Given the description of an element on the screen output the (x, y) to click on. 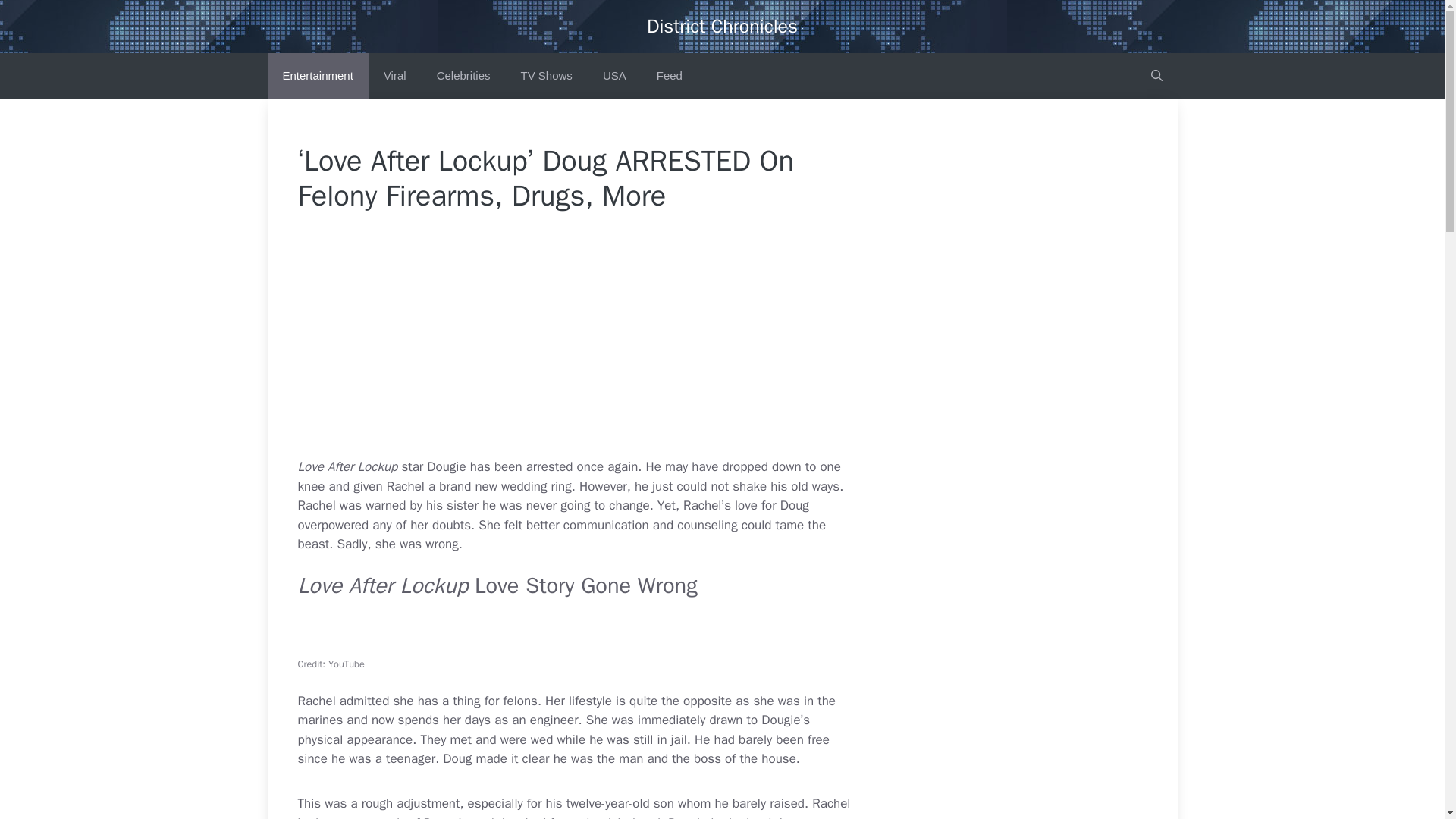
TV Shows (546, 75)
USA (615, 75)
Viral (395, 75)
District Chronicles (721, 25)
Celebrities (463, 75)
Feed (669, 75)
Entertainment (317, 75)
Advertisement (611, 345)
